Given the description of an element on the screen output the (x, y) to click on. 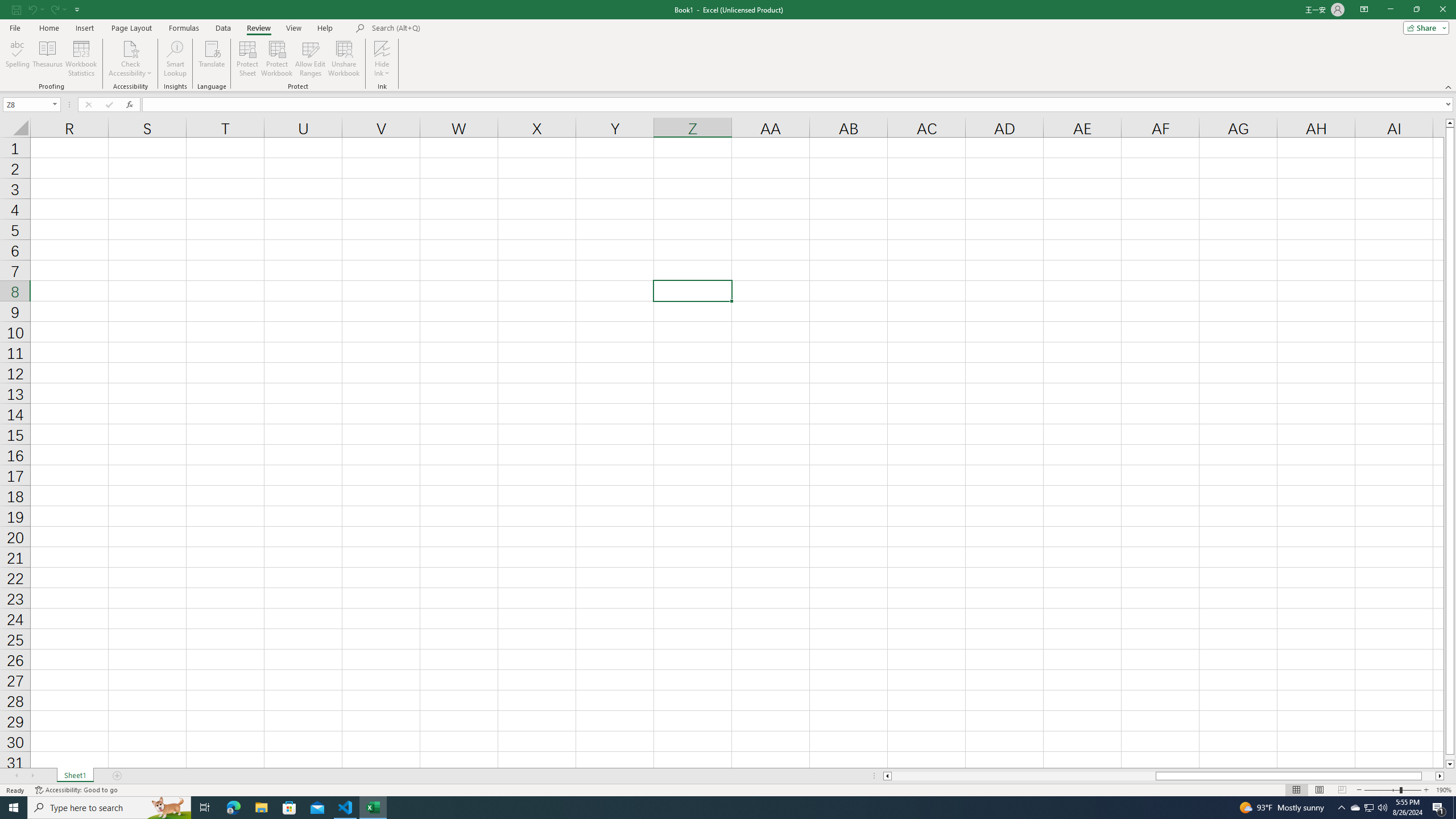
Protect Workbook... (277, 58)
